Given the description of an element on the screen output the (x, y) to click on. 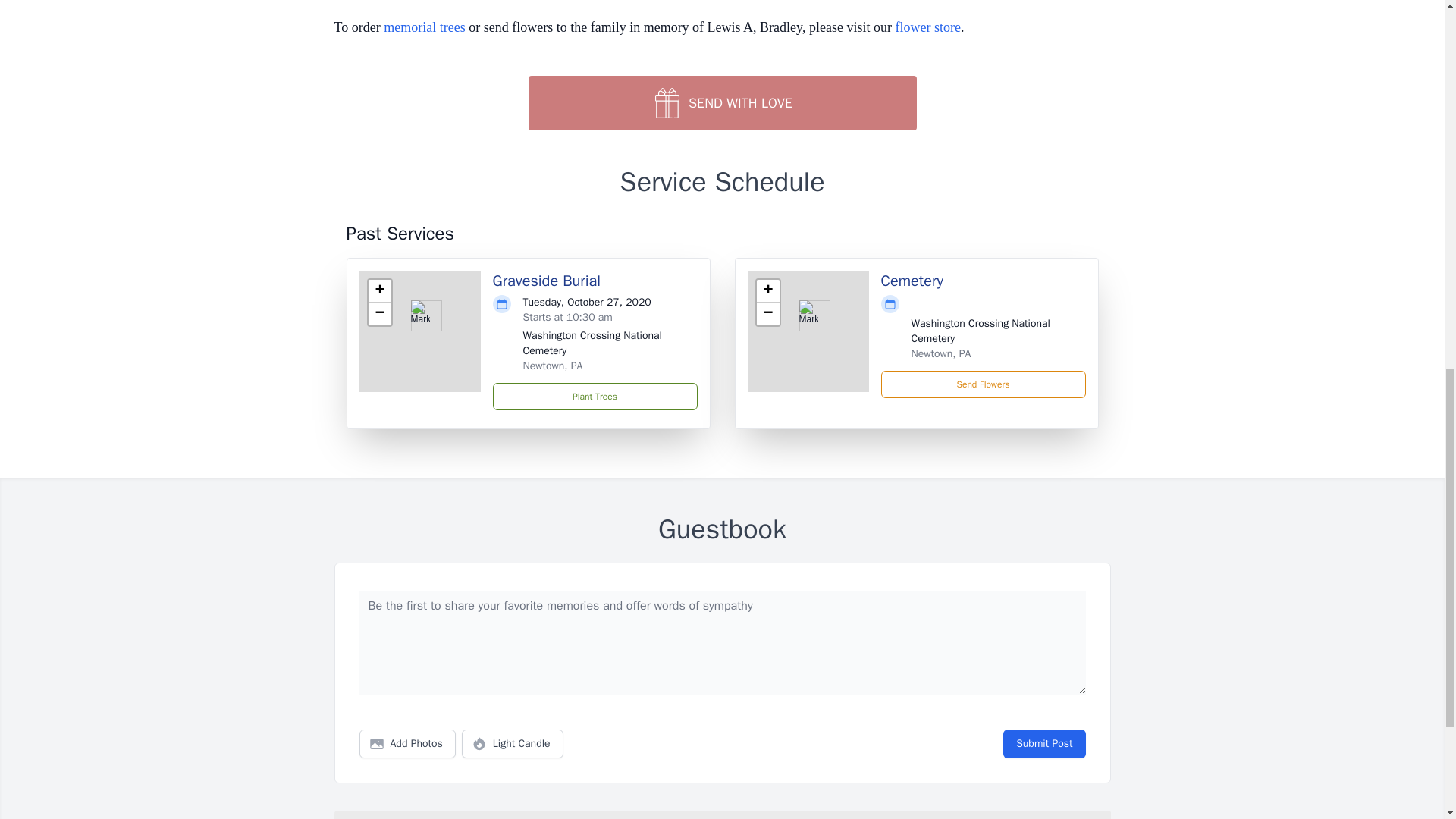
Light Candle (512, 743)
Zoom out (379, 313)
memorial trees (424, 27)
Send Flowers (983, 384)
Newtown, PA (941, 353)
flower store (927, 27)
Newtown, PA (552, 365)
Zoom out (767, 313)
SEND WITH LOVE (721, 103)
Add Photos (407, 743)
Zoom in (767, 291)
Plant Trees (595, 396)
Zoom in (379, 291)
Submit Post (1043, 743)
